Given the description of an element on the screen output the (x, y) to click on. 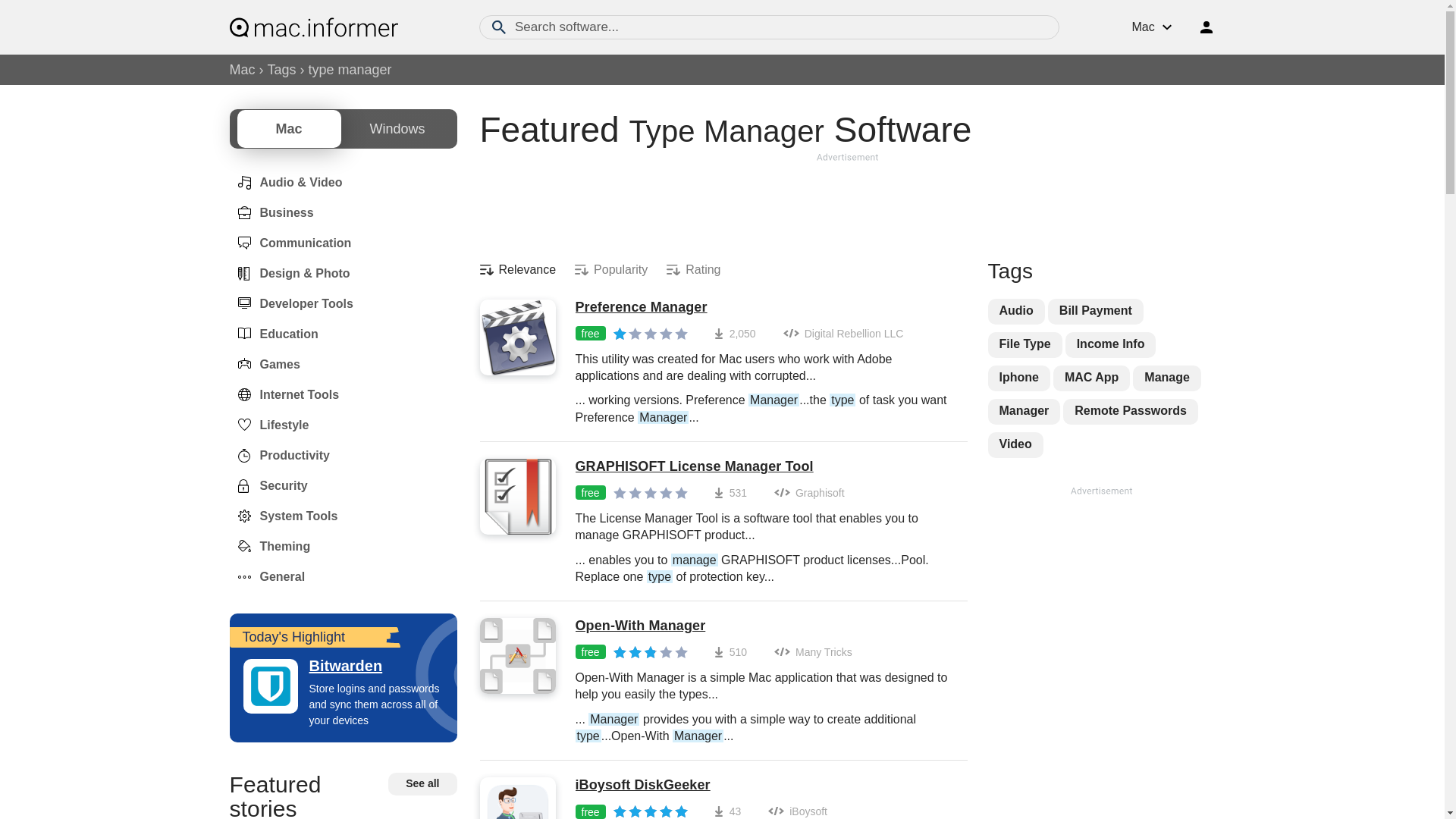
General (266, 576)
iBoysoft DiskGeeker (763, 785)
Software downloads and reviews (312, 26)
Popularity (611, 269)
Advertisement (846, 202)
iBoysoft DiskGeeker (763, 785)
Relevance (517, 269)
Preference Manager (763, 307)
Security (267, 486)
Lifestyle (268, 425)
GRAPHISOFT License Manager Tool (763, 466)
Bitwarden (342, 665)
Internet Tools (283, 395)
Search (498, 27)
